Given the description of an element on the screen output the (x, y) to click on. 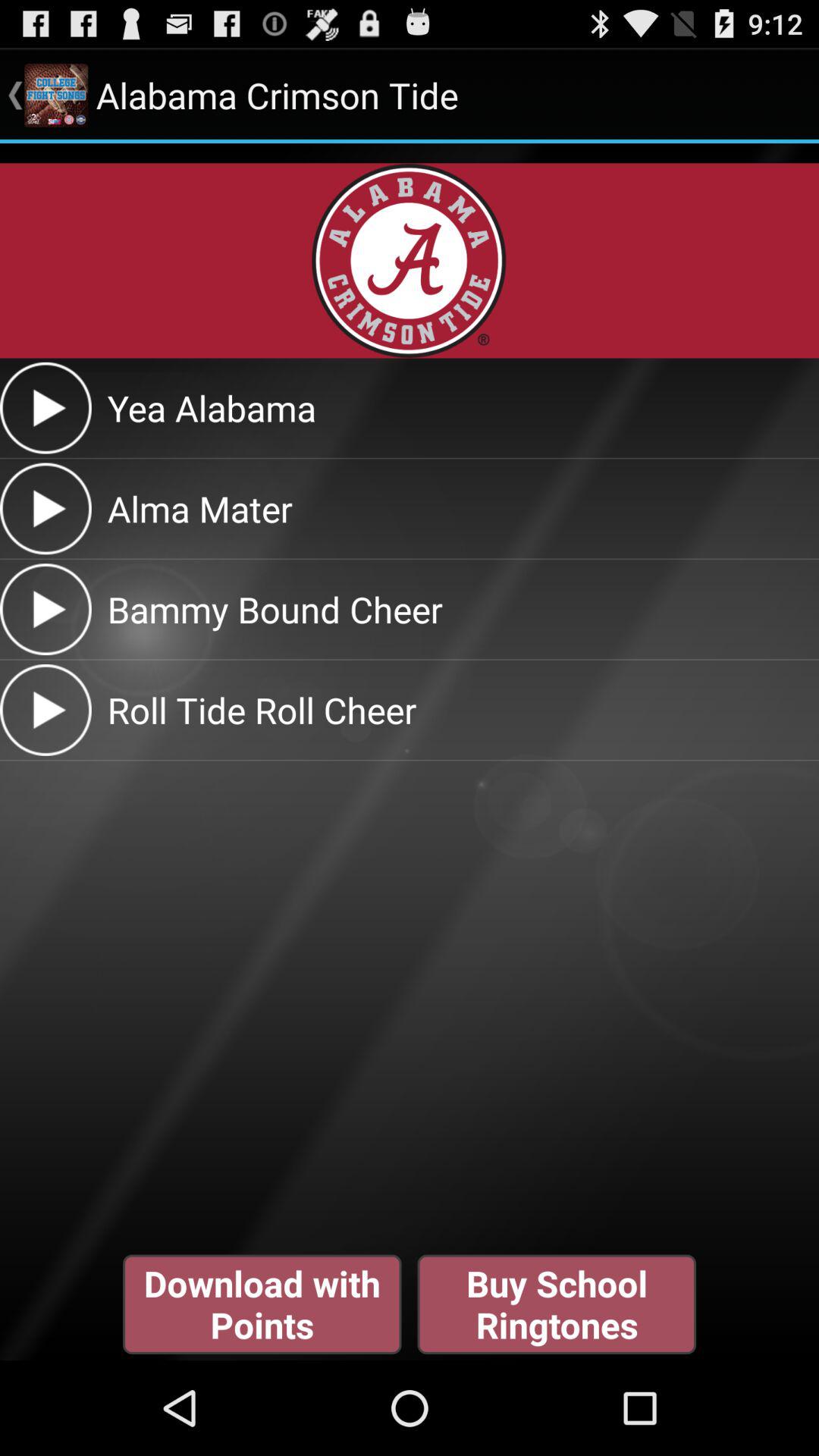
click play button (45, 709)
